Given the description of an element on the screen output the (x, y) to click on. 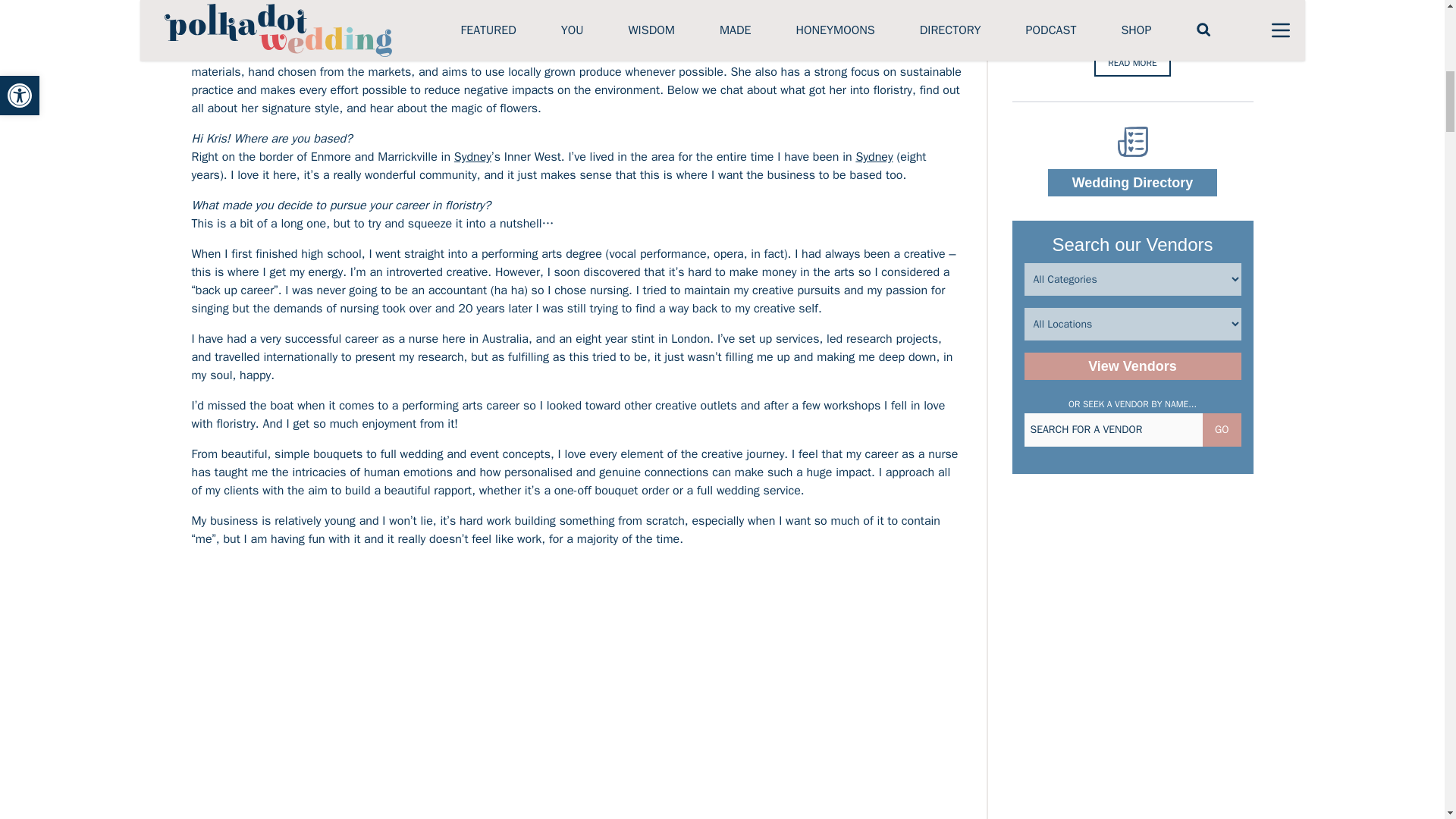
Sydney (473, 156)
Sydney (874, 156)
Sydney (874, 156)
Sydney (473, 156)
Kris McKee Floral Design (571, 26)
